Given the description of an element on the screen output the (x, y) to click on. 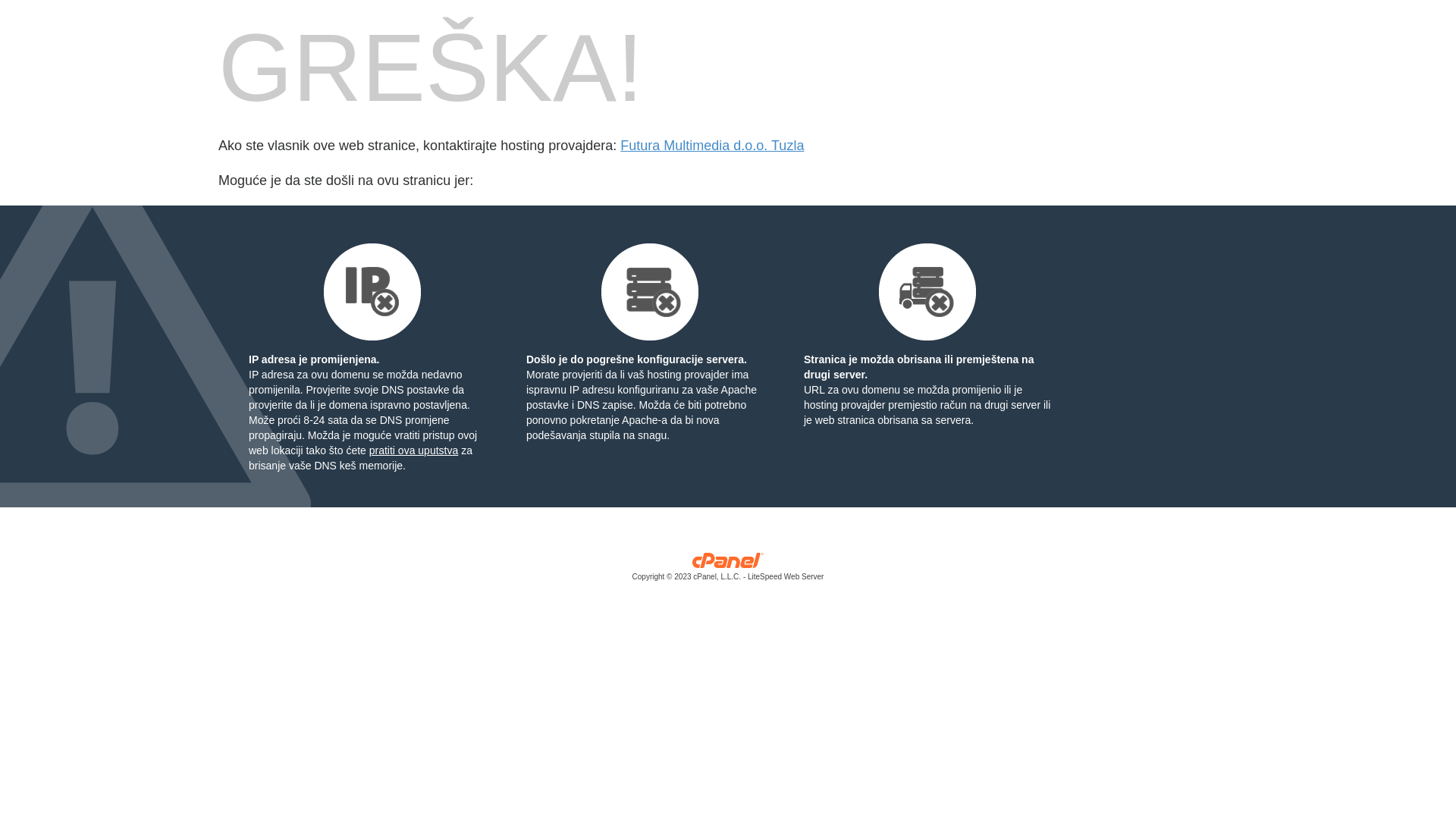
Futura Multimedia d.o.o. Tuzla Element type: text (711, 145)
pratiti ova uputstva Element type: text (413, 450)
